Given the description of an element on the screen output the (x, y) to click on. 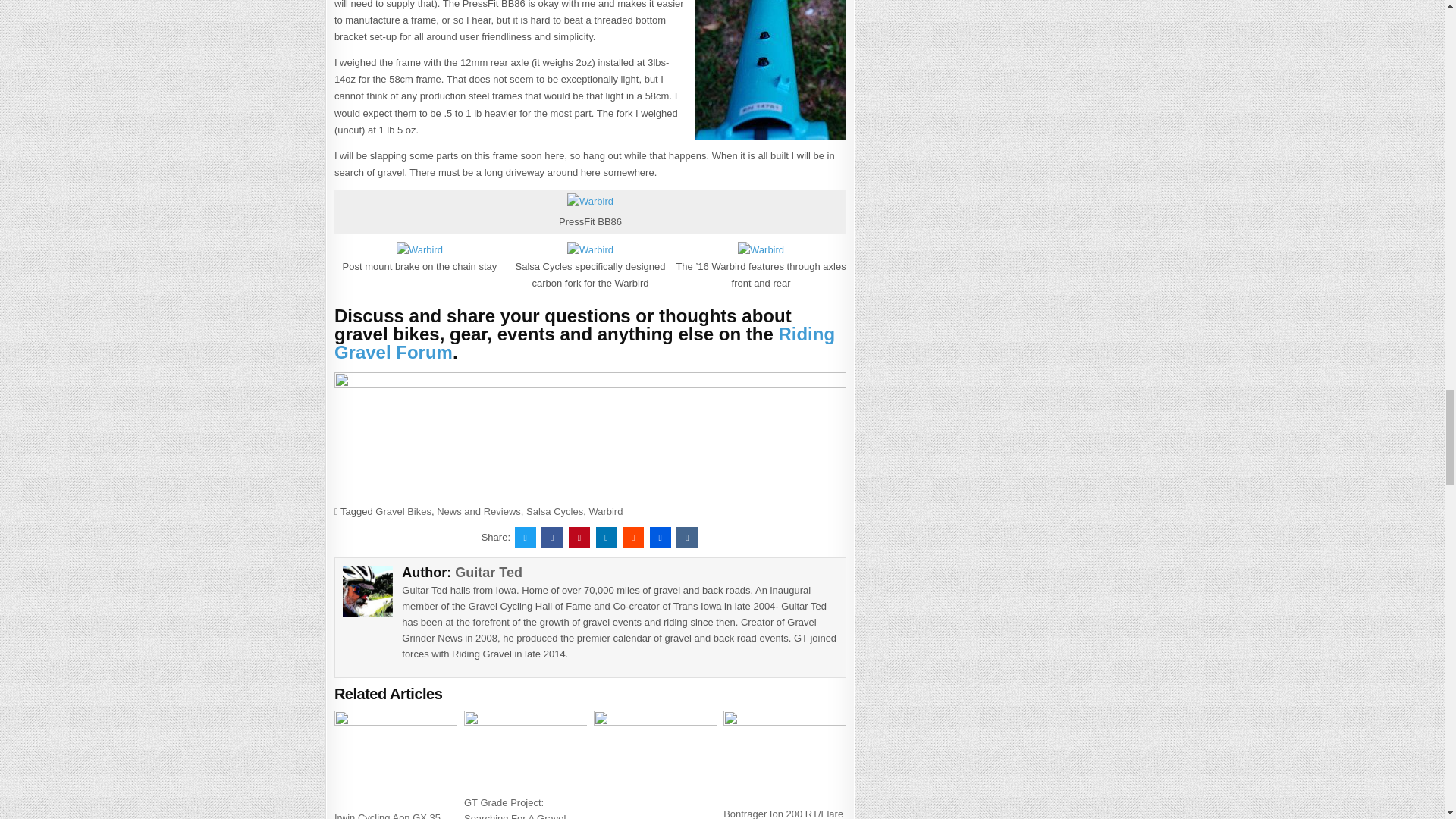
Riding Gravel Forum (584, 342)
Share this on VK (687, 537)
Share this on Facebook (551, 537)
Share this on Linkedin (606, 537)
Tweet This! (525, 537)
Share this on Reddit (633, 537)
Share this on Pinterest (579, 537)
Share this on Digg (660, 537)
